Given the description of an element on the screen output the (x, y) to click on. 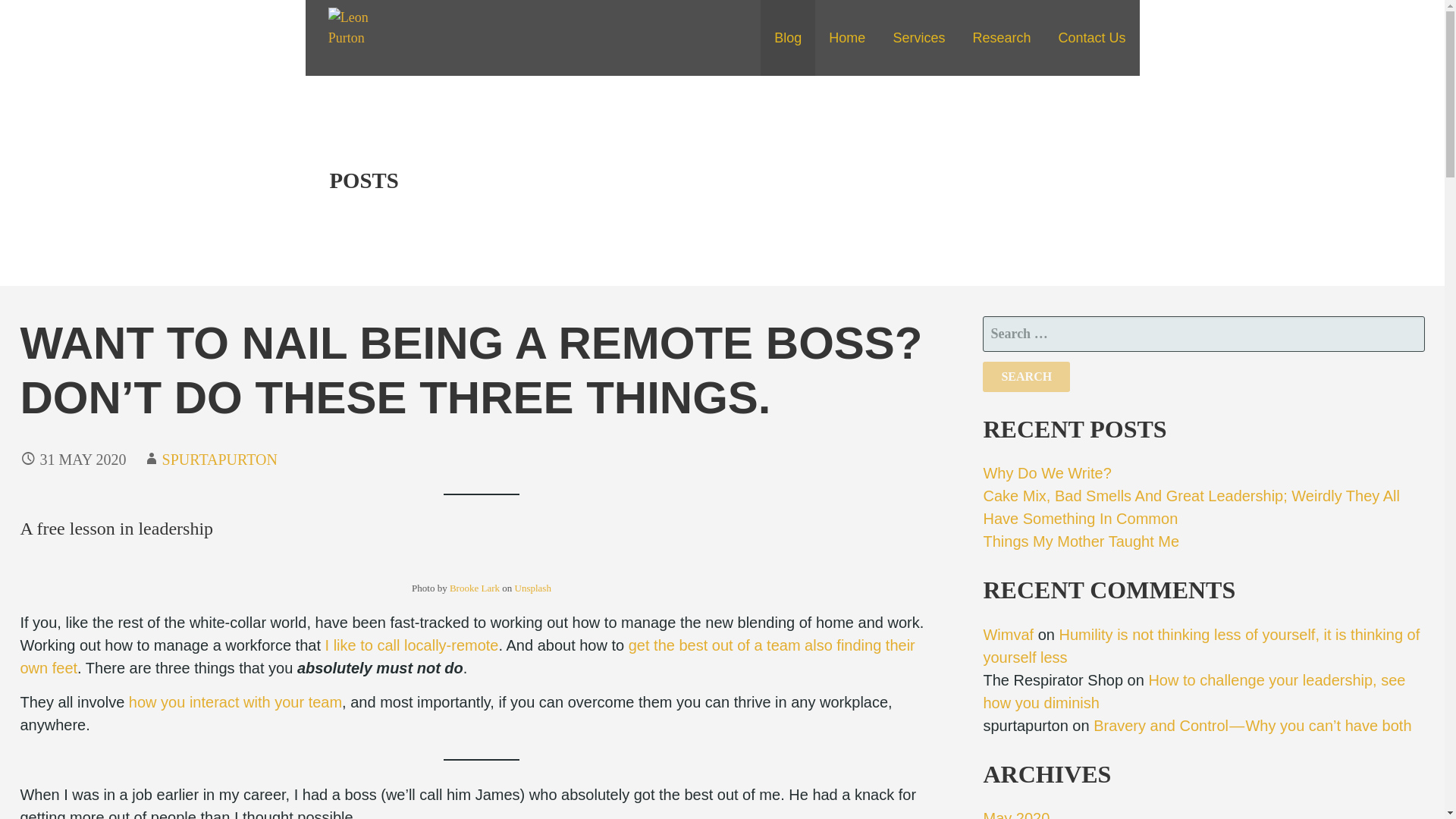
Contact Us (1090, 38)
how you interact with your team (235, 701)
Brooke Lark (474, 587)
Research (1000, 38)
I like to call locally-remote (411, 645)
Things My Mother Taught Me (1080, 541)
Search (1026, 376)
get the best out of a team also finding their own feet (467, 656)
Search (1026, 376)
What can I do for you? (918, 38)
May 2020 (1015, 814)
Unsplash (531, 587)
Wimvaf (1007, 634)
